Given the description of an element on the screen output the (x, y) to click on. 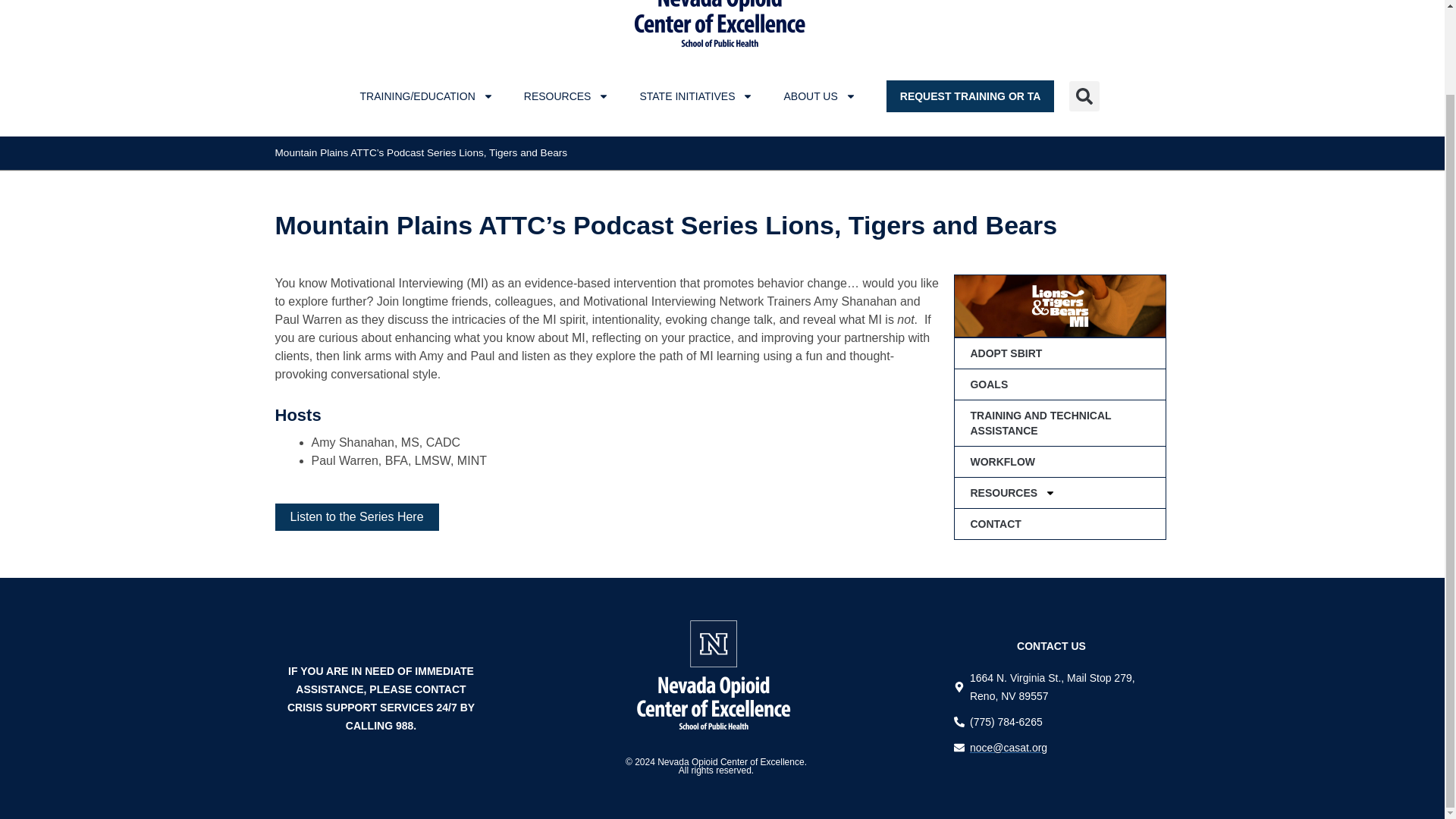
STATE INITIATIVES (696, 95)
ABOUT US (819, 95)
RESOURCES (566, 95)
